Given the description of an element on the screen output the (x, y) to click on. 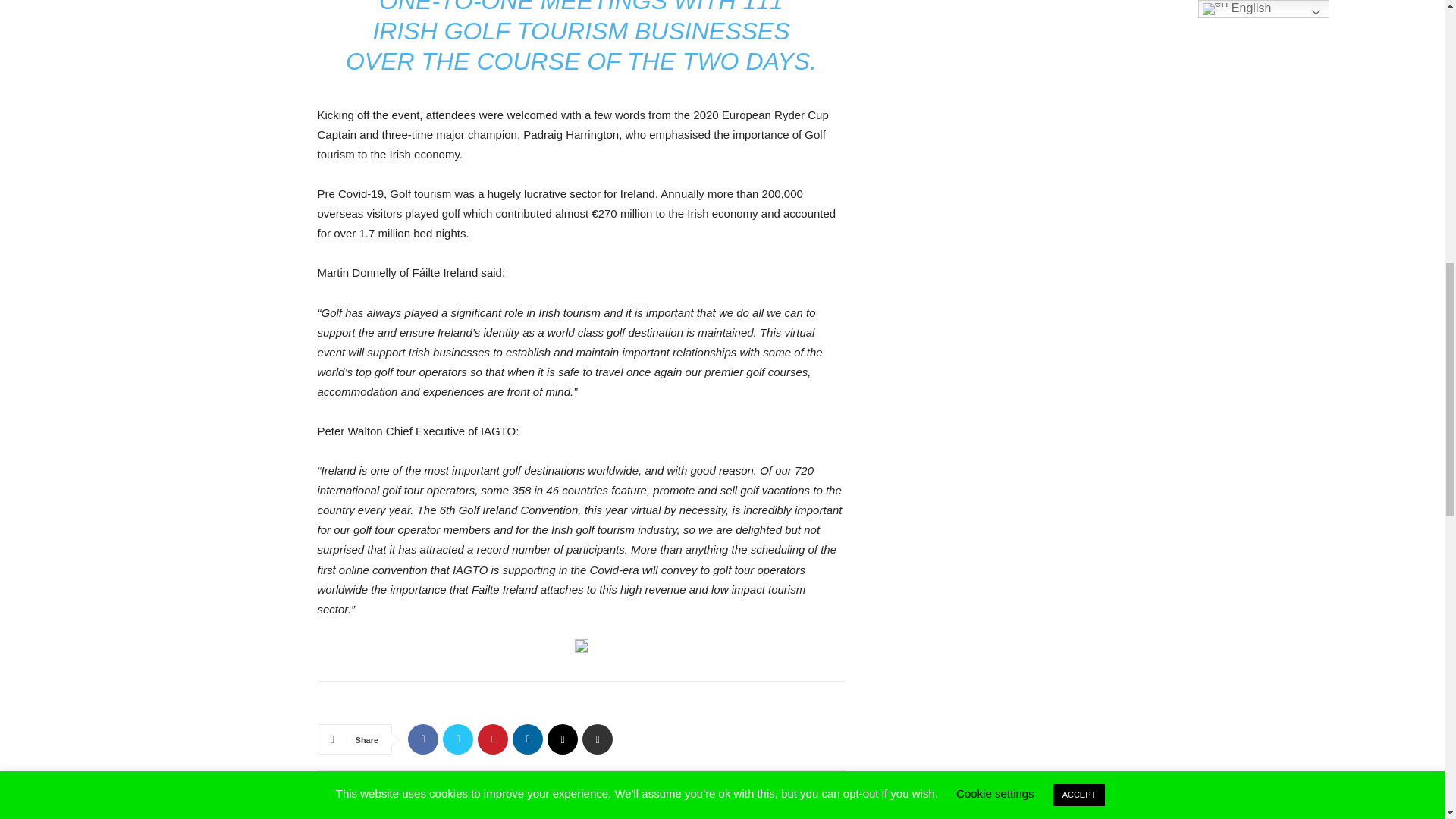
Facebook (422, 738)
Linkedin (527, 738)
Twitter (457, 738)
bottomFacebookLike (430, 705)
Pinterest (492, 738)
Email (562, 738)
